Given the description of an element on the screen output the (x, y) to click on. 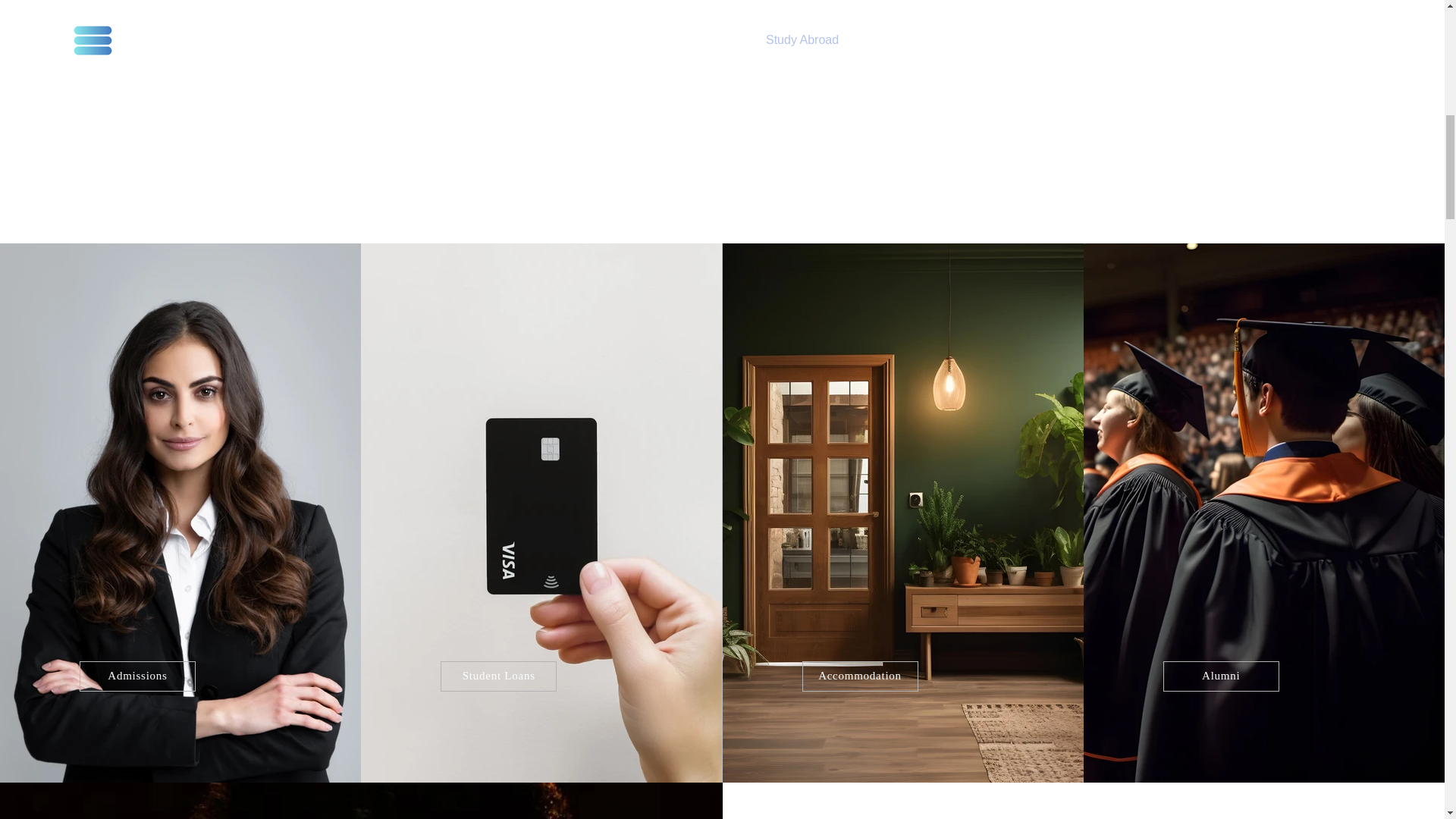
Accommodation (860, 675)
Alumni (1221, 675)
Admissions (137, 675)
Student Loans (498, 675)
